Given the description of an element on the screen output the (x, y) to click on. 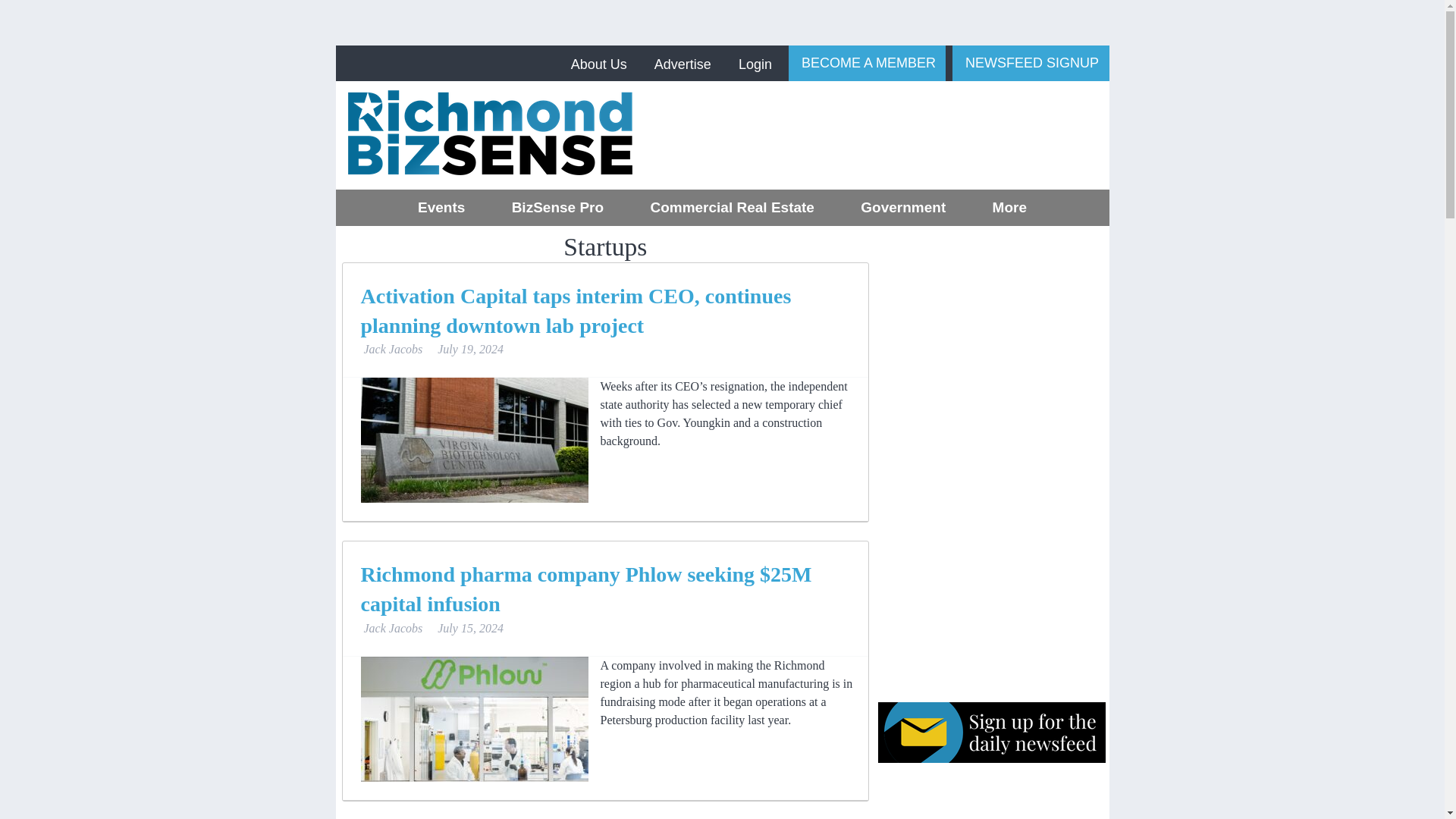
NEWSFEED SIGNUP (1030, 62)
Government (903, 207)
About Us (598, 63)
BECOME A MEMBER (866, 62)
Events (441, 207)
Advertise (681, 63)
BizSense Pro (557, 207)
Commercial Real Estate (732, 207)
